Given the description of an element on the screen output the (x, y) to click on. 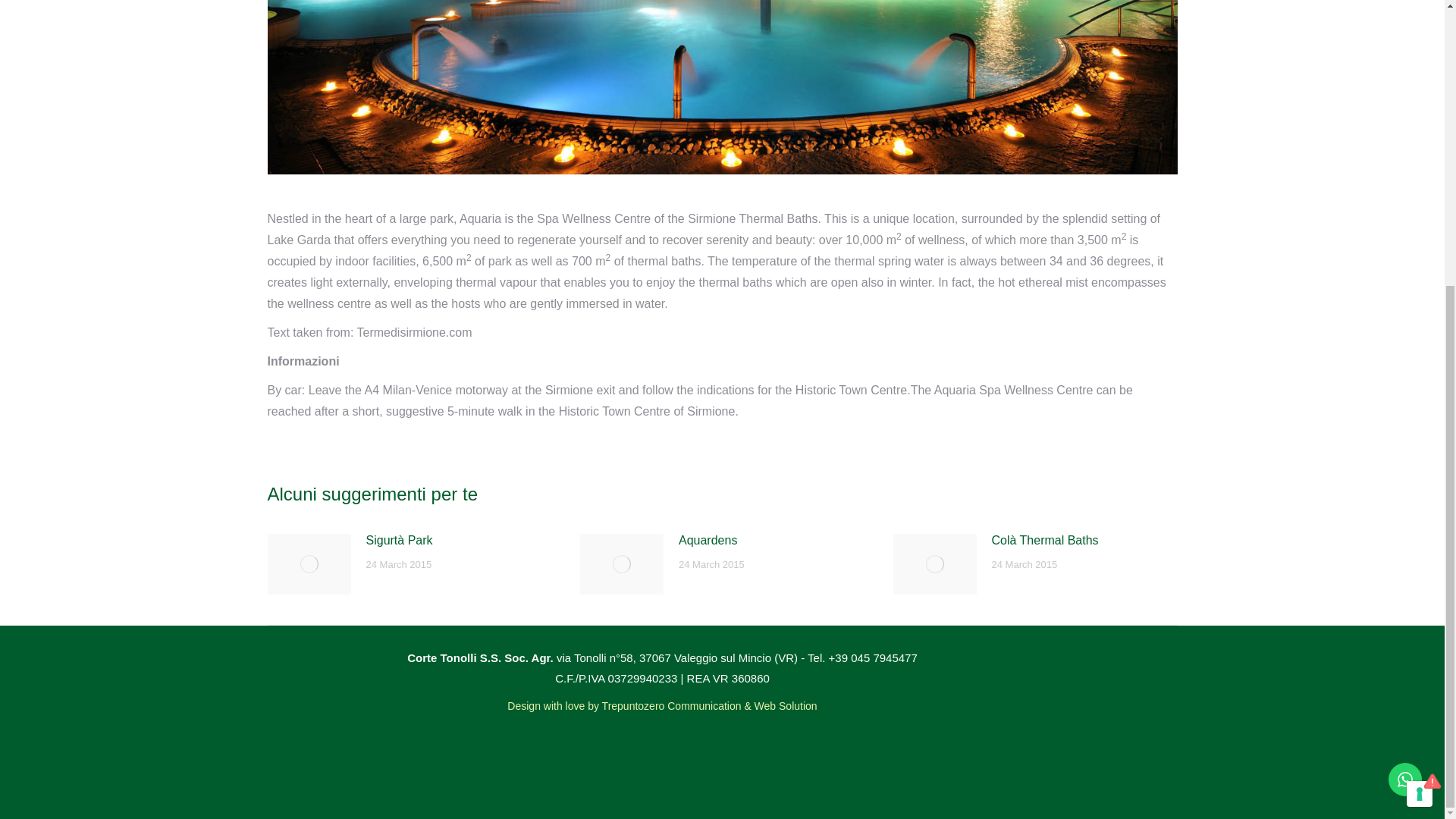
Cookie Policy  (125, 324)
Privacy Policy  (127, 301)
WhatsApp us (1405, 348)
